Given the description of an element on the screen output the (x, y) to click on. 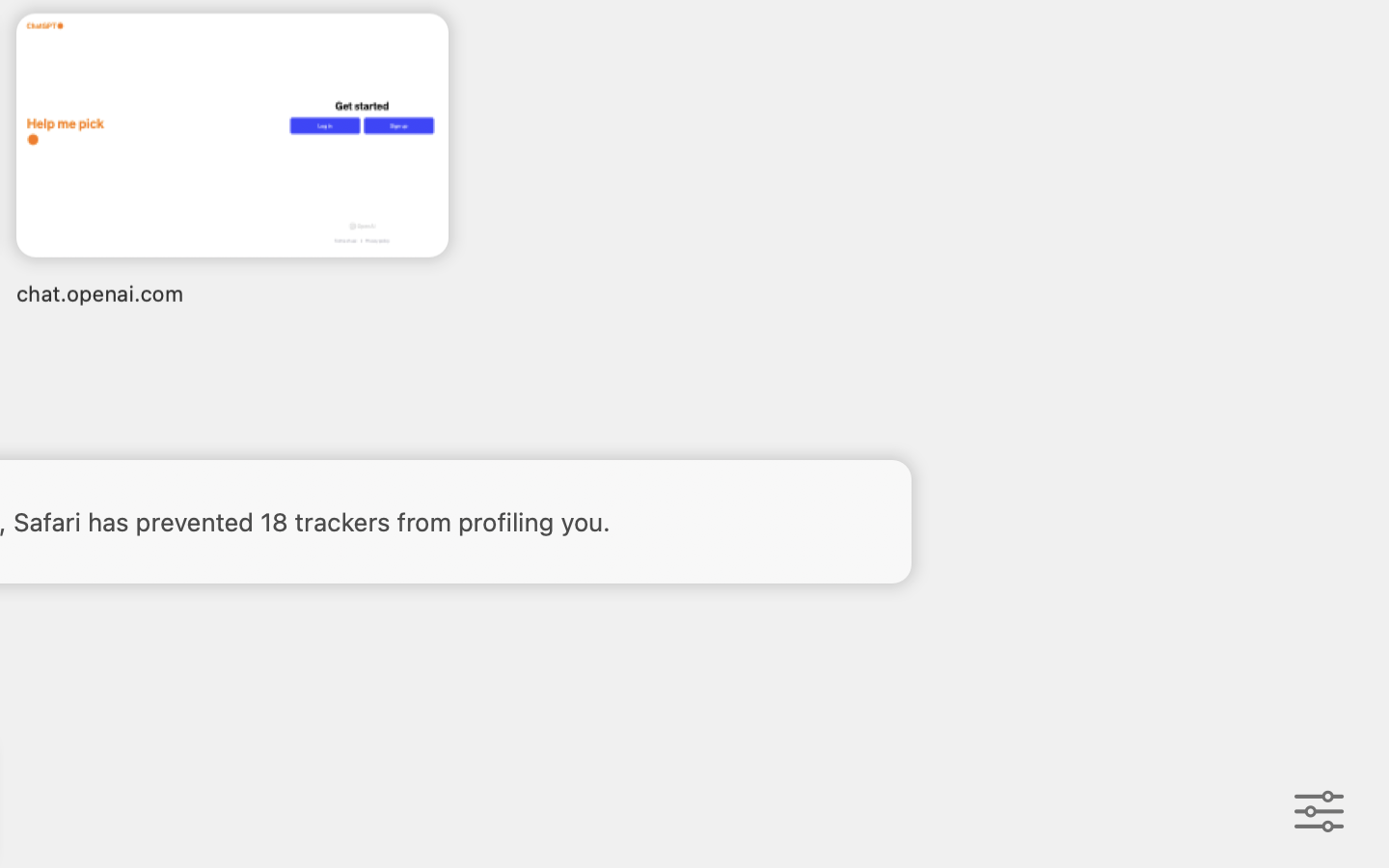
chat.openai.com Element type: AXStaticText (231, 292)
